Given the description of an element on the screen output the (x, y) to click on. 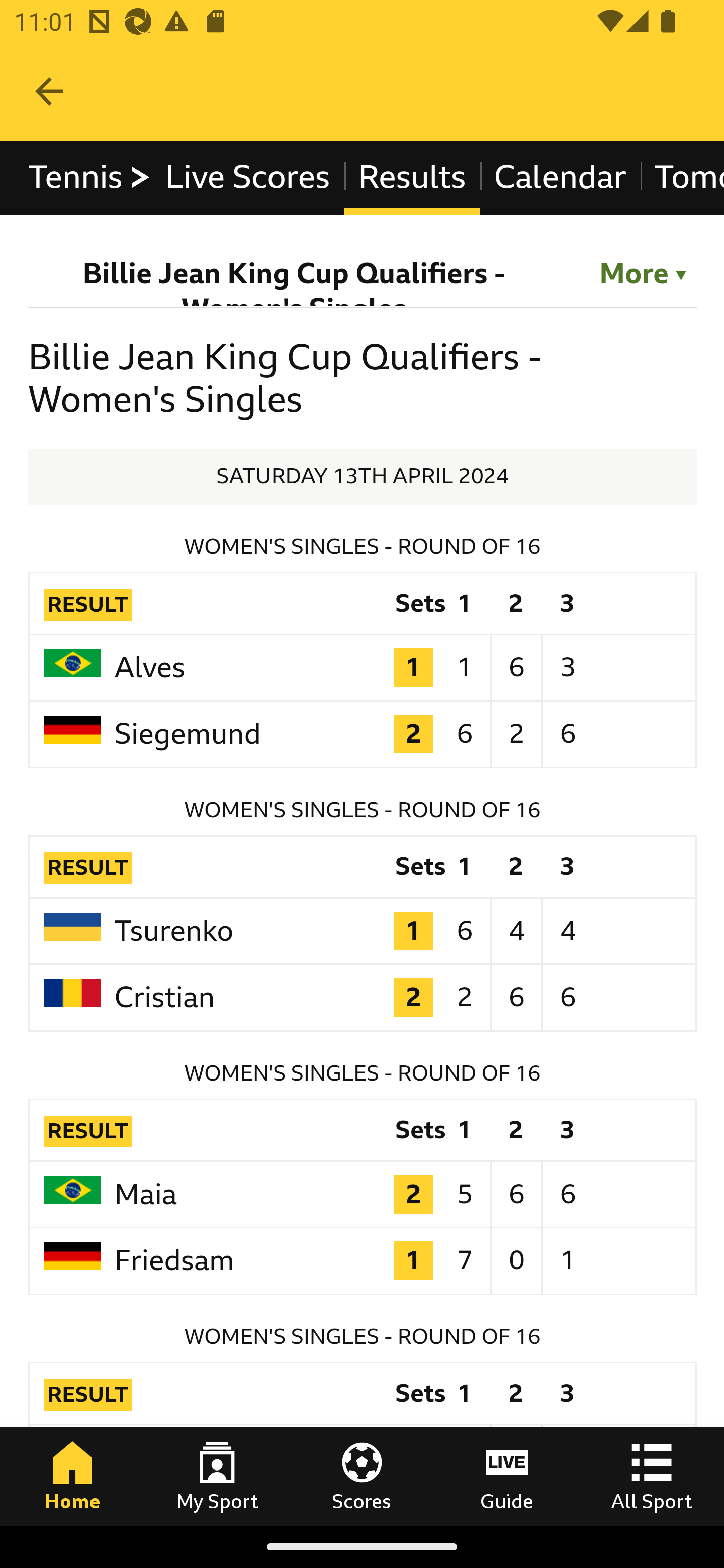
Navigate up (49, 91)
Tennis  (90, 177)
Live Scores (246, 177)
Results (411, 177)
Calendar (560, 177)
My Sport (216, 1475)
Scores (361, 1475)
Guide (506, 1475)
All Sport (651, 1475)
